Given the description of an element on the screen output the (x, y) to click on. 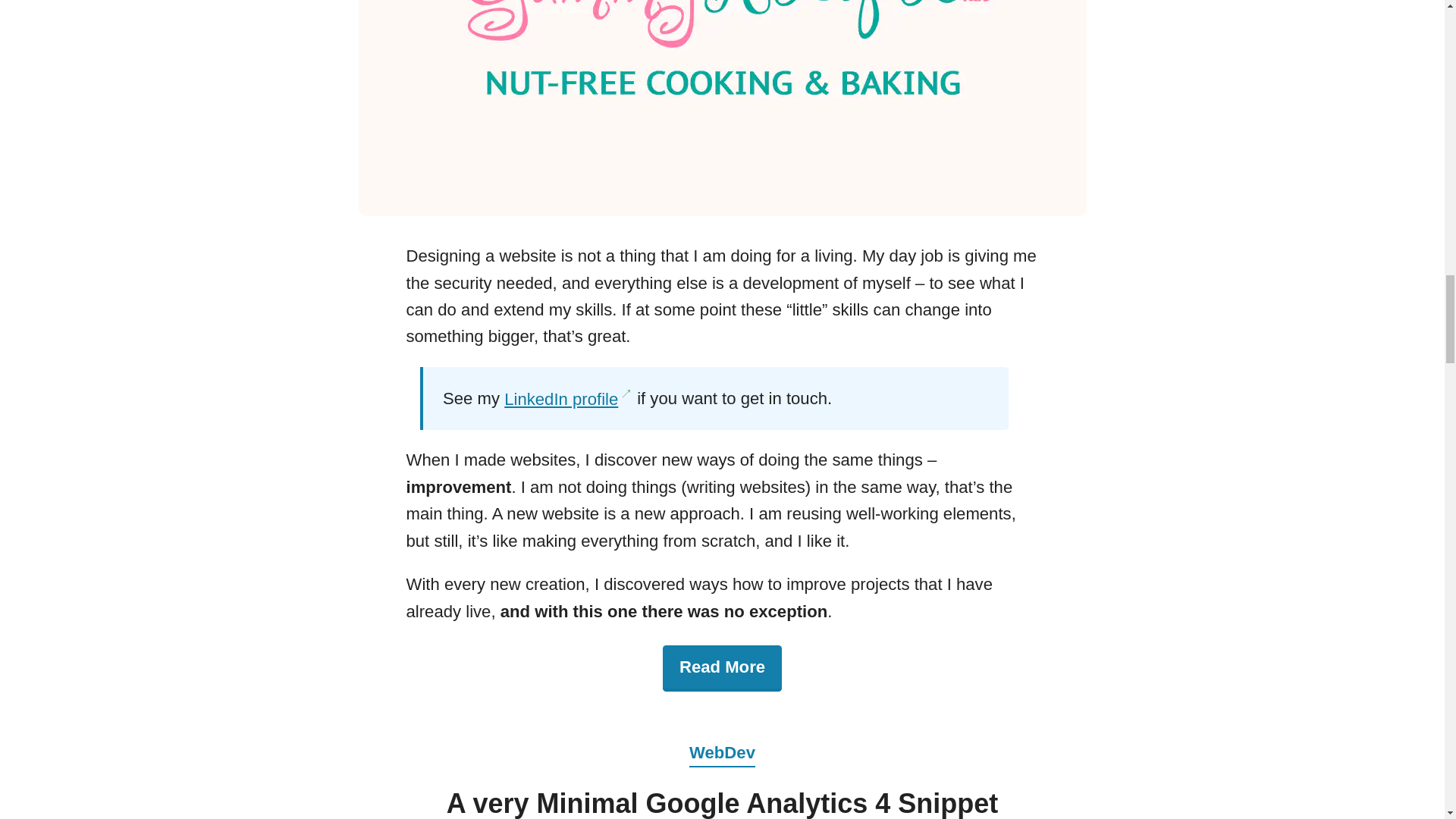
A very Minimal Google Analytics 4 Snippet (722, 803)
LinkedIn profile (567, 398)
WebDev (721, 739)
